Given the description of an element on the screen output the (x, y) to click on. 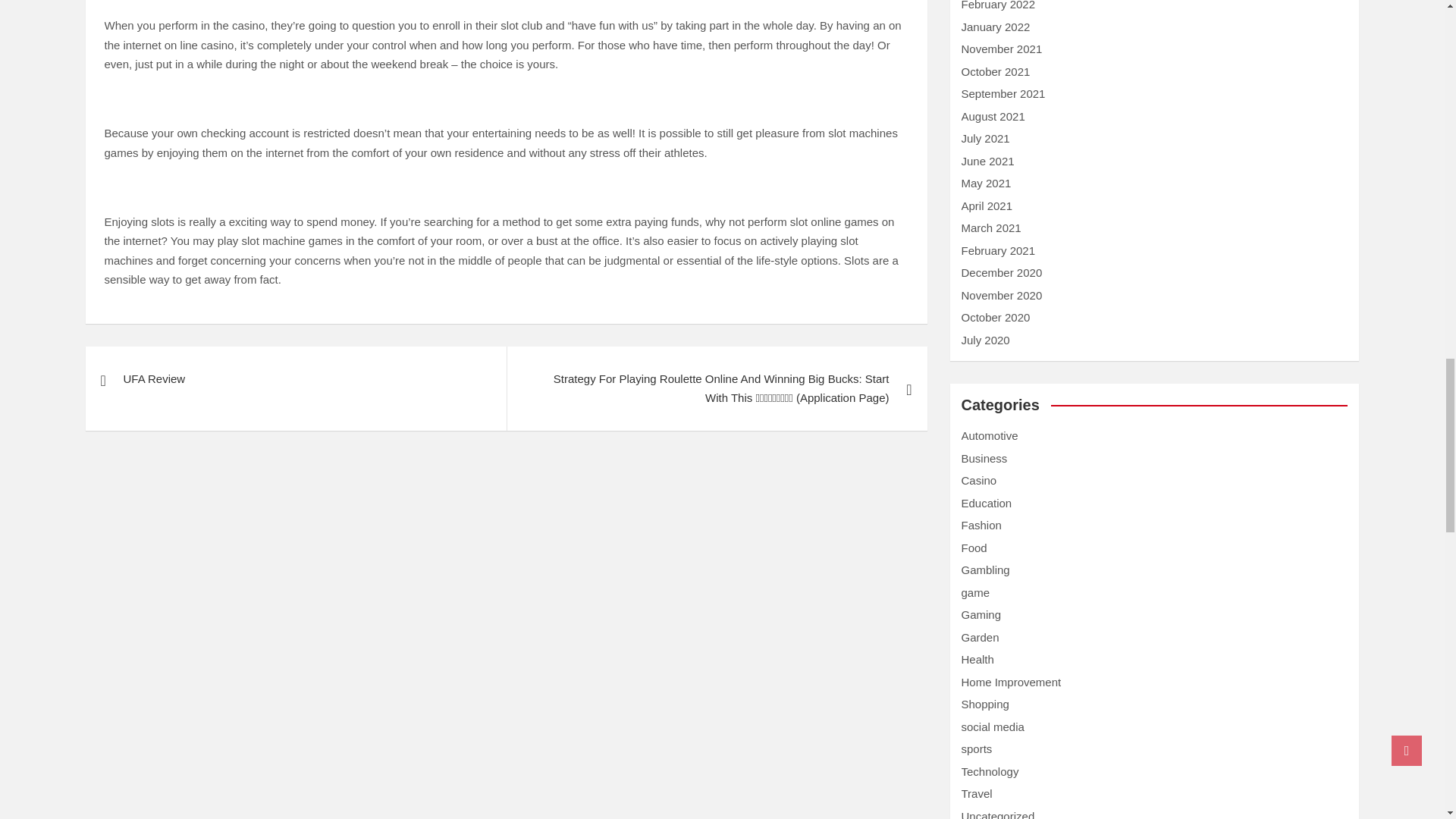
UFA Review (294, 378)
